Given the description of an element on the screen output the (x, y) to click on. 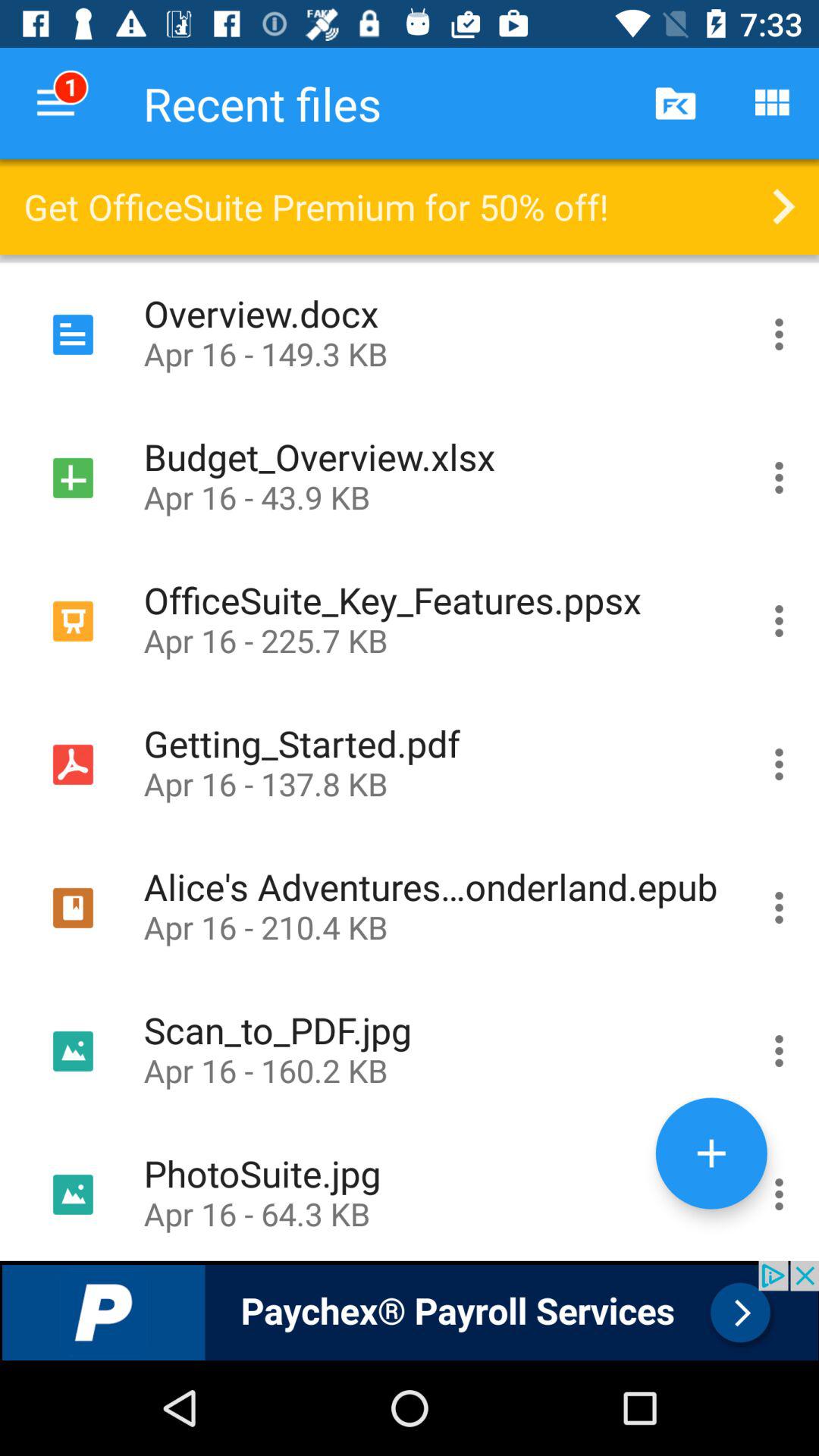
open more options (779, 477)
